Given the description of an element on the screen output the (x, y) to click on. 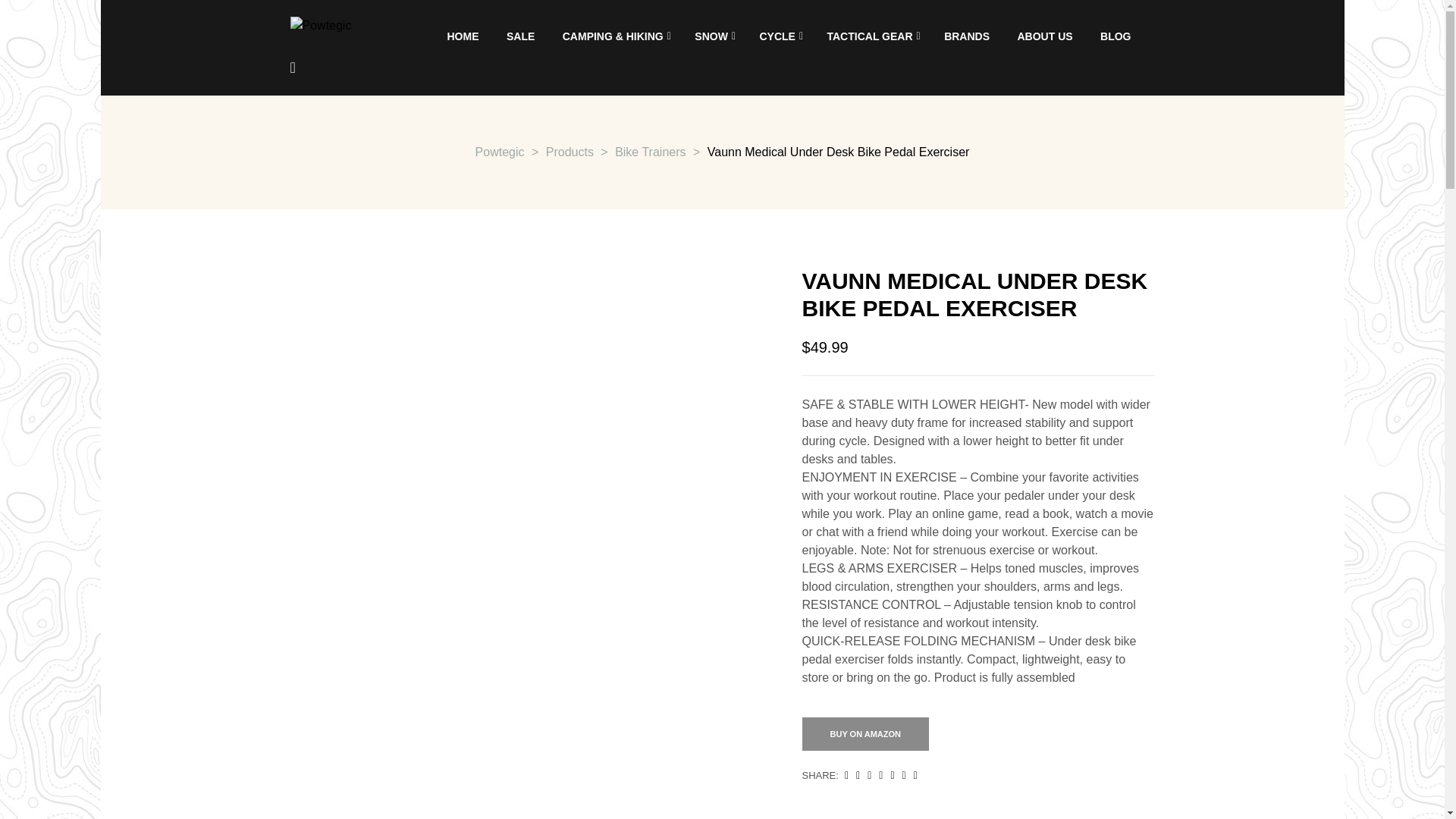
Go to the Bike Trainers Category archives. (649, 151)
SALE (521, 36)
Go to Products. (570, 151)
HOME (463, 36)
SNOW (713, 36)
Go to Powtegic. (500, 151)
